Given the description of an element on the screen output the (x, y) to click on. 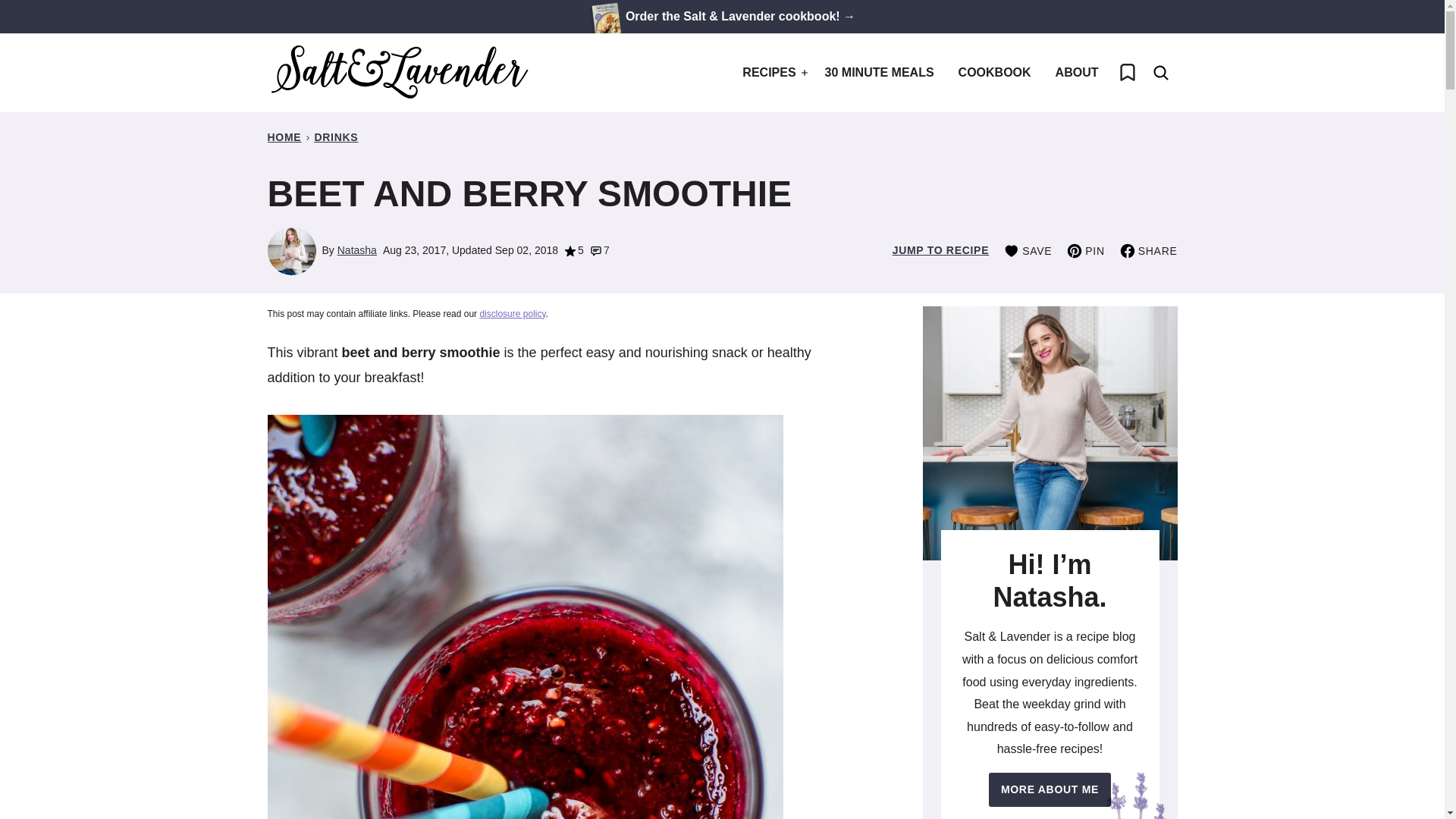
ABOUT (1076, 72)
30 MINUTE MEALS (879, 72)
Share on Facebook (1148, 250)
COOKBOOK (994, 72)
DRINKS (336, 137)
My Favorites (1125, 72)
JUMP TO RECIPE (941, 250)
Natasha (357, 250)
disclosure policy (511, 313)
7 (599, 250)
Share on Pinterest (1085, 250)
SAVE (1027, 250)
RECIPES (771, 72)
SHARE (1148, 250)
HOME (283, 137)
